Given the description of an element on the screen output the (x, y) to click on. 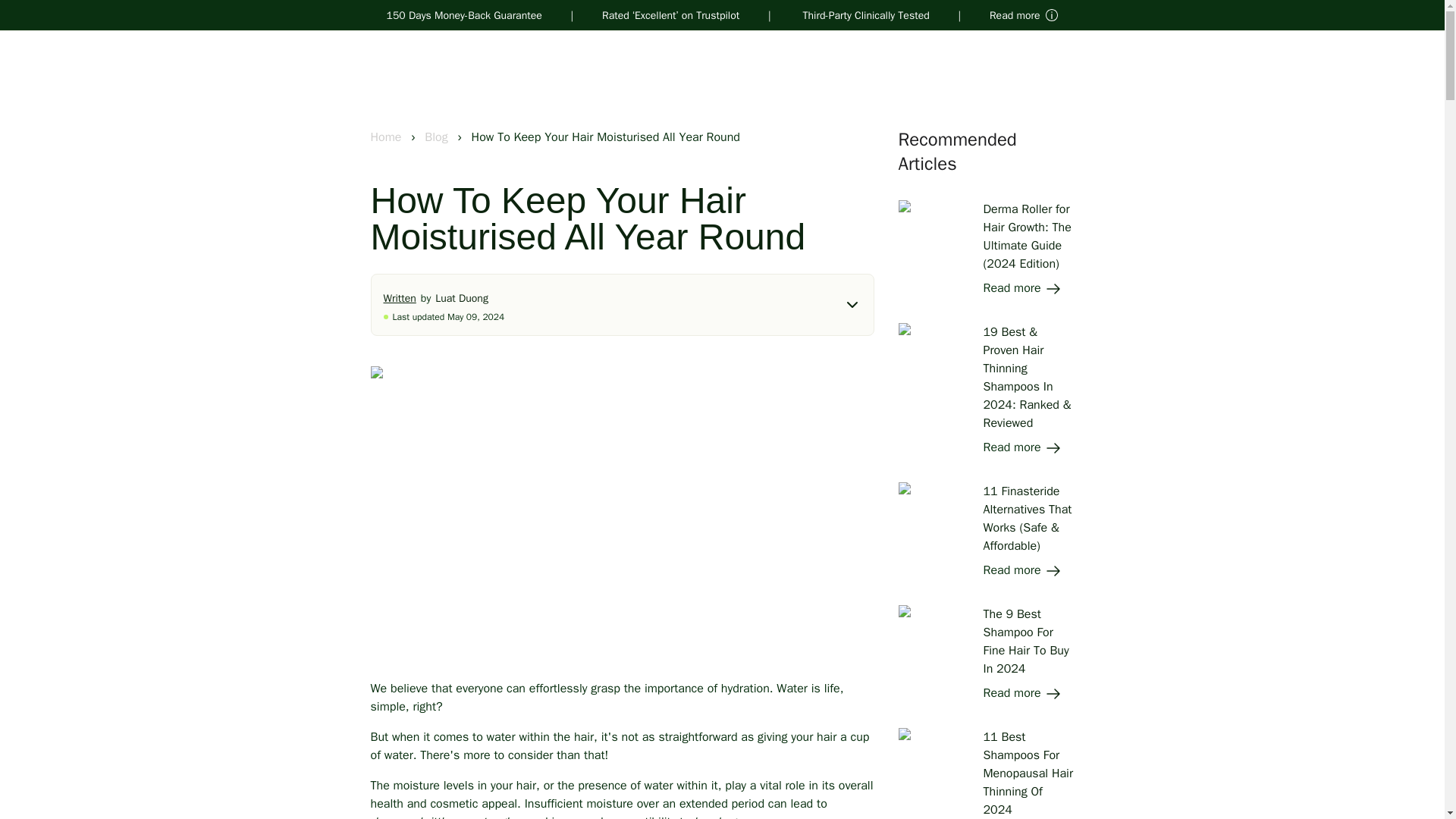
Read more (1022, 570)
Written (402, 297)
Read more (1022, 447)
Home (386, 136)
Read more (1022, 288)
How To Keep Your Hair Moisturised All Year Round (605, 136)
Read more (1022, 692)
Blog (438, 136)
